Given the description of an element on the screen output the (x, y) to click on. 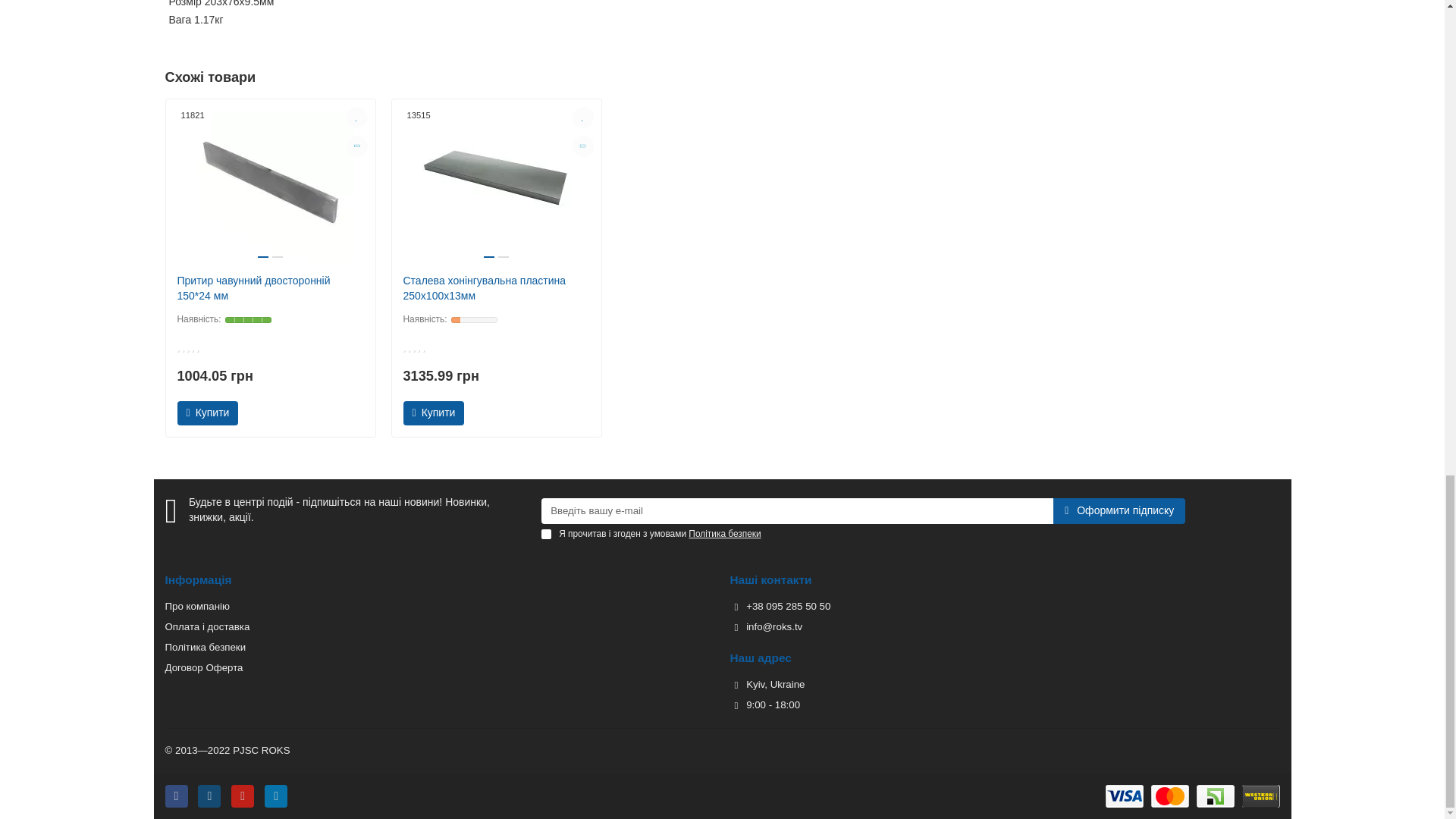
1 (546, 533)
